Given the description of an element on the screen output the (x, y) to click on. 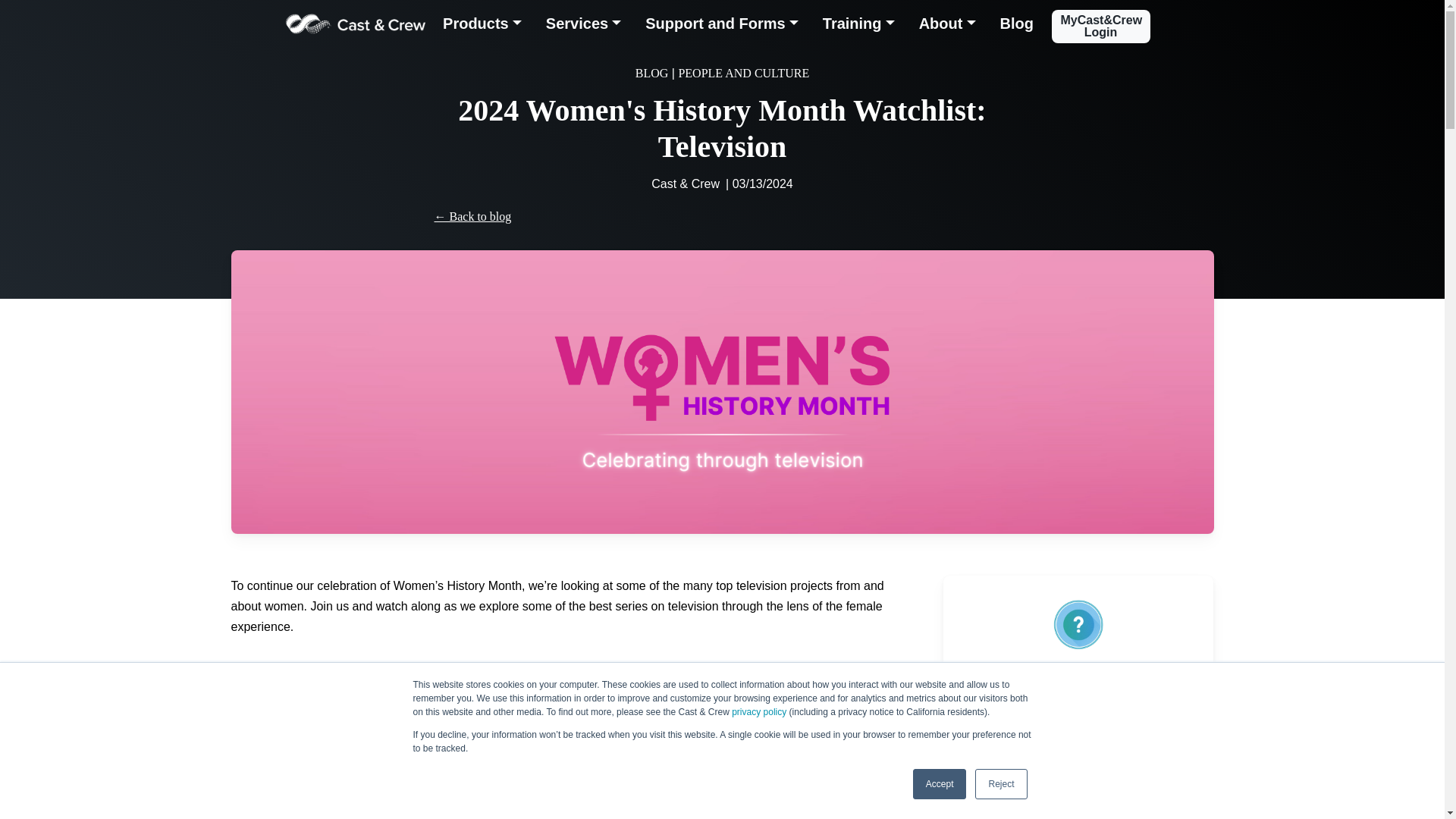
privacy policy (759, 711)
Support and Forms (721, 25)
About (947, 25)
Accept (939, 784)
Reject (1000, 784)
Training (858, 25)
Services (583, 25)
Products (482, 25)
